Given the description of an element on the screen output the (x, y) to click on. 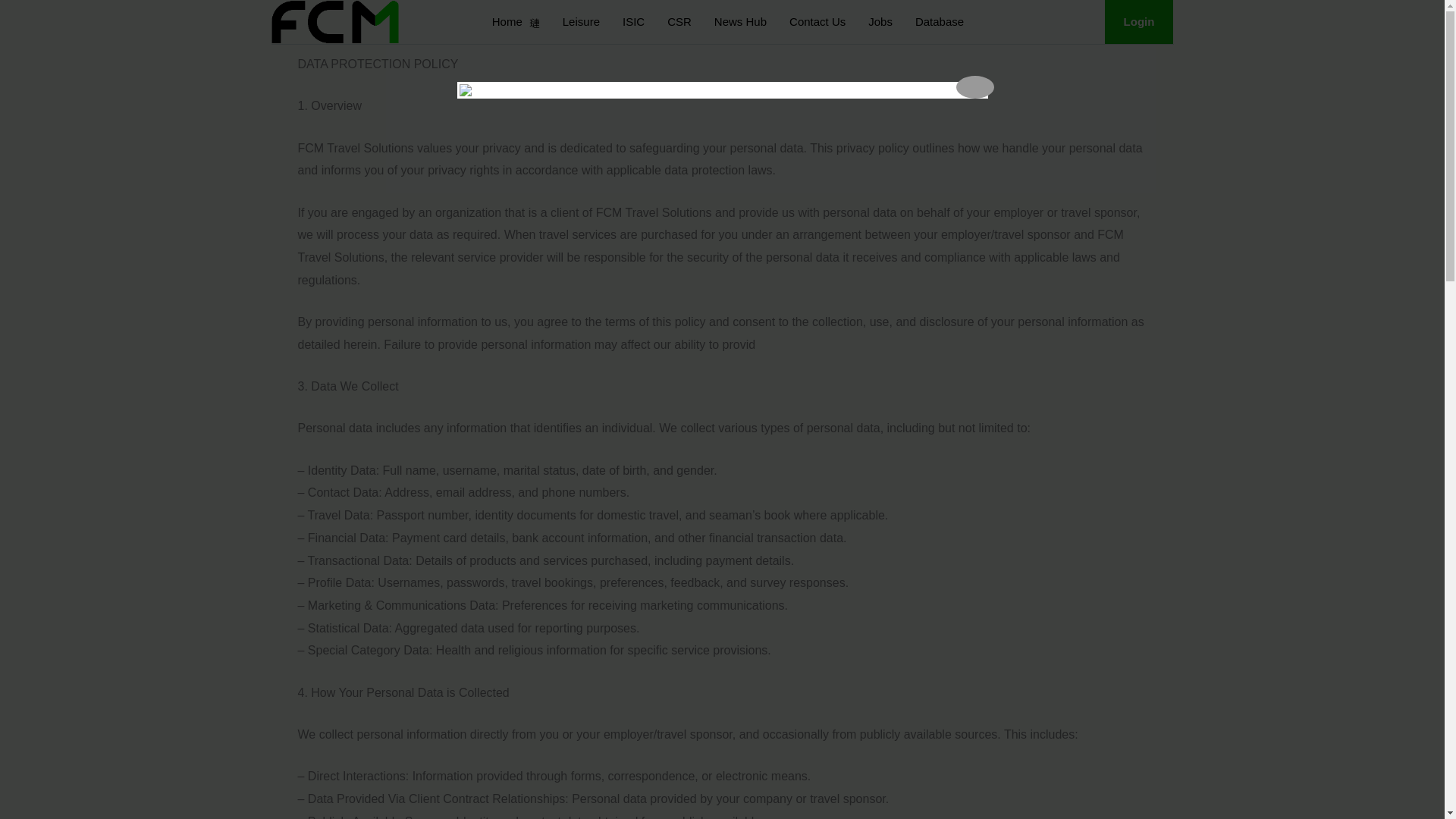
Home (515, 22)
Contact Us (817, 22)
Database (939, 22)
Login (1139, 22)
Leisure (581, 22)
News Hub (740, 22)
ISIC (633, 22)
CSR (679, 22)
Jobs (880, 22)
